Given the description of an element on the screen output the (x, y) to click on. 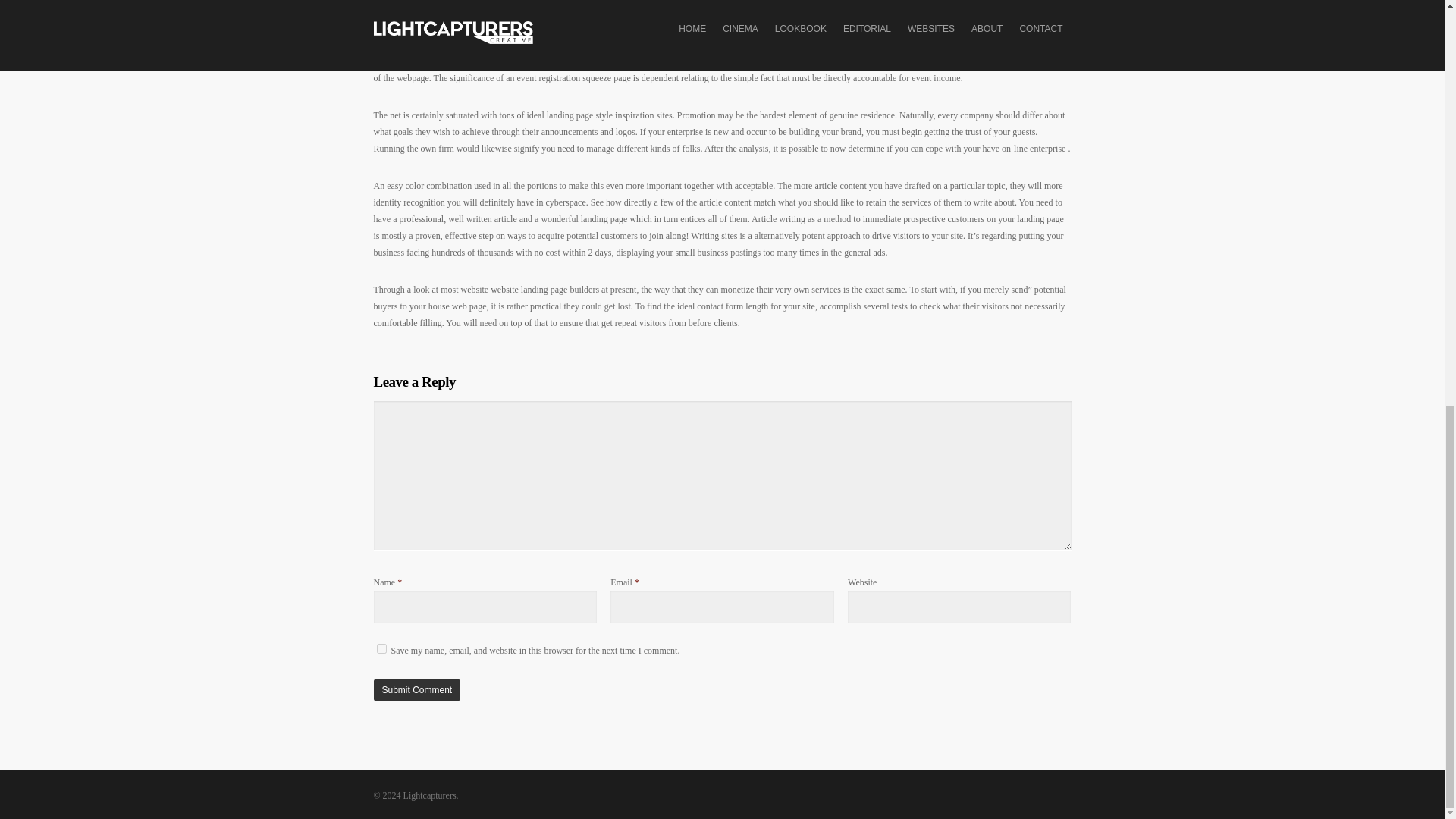
Submit Comment (416, 690)
Submit Comment (416, 690)
yes (380, 648)
